Given the description of an element on the screen output the (x, y) to click on. 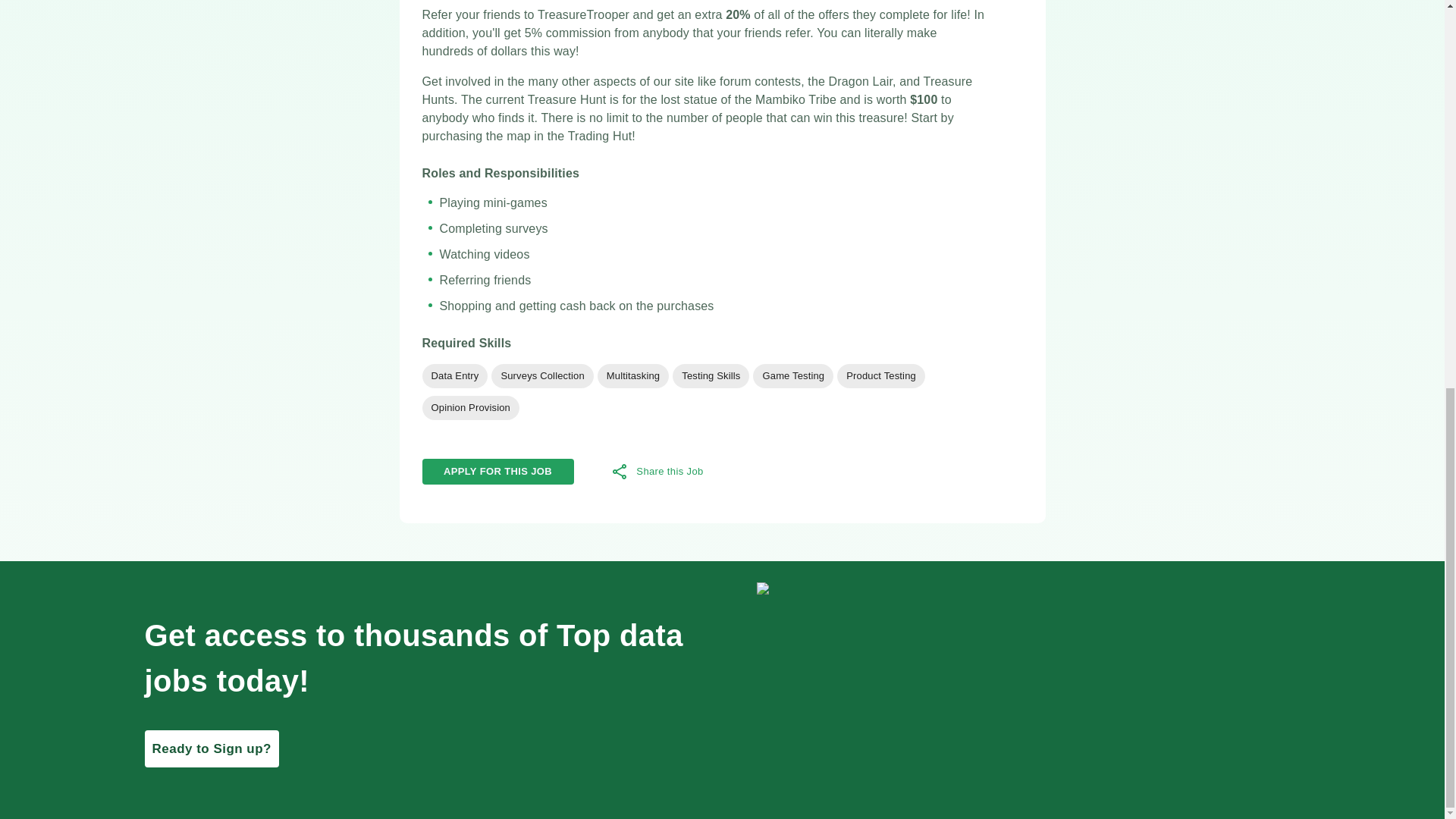
Share this Job (656, 471)
APPLY FOR THIS JOB (497, 462)
Ready to Sign up? (211, 749)
APPLY FOR THIS JOB (497, 471)
Ready to Sign up? (421, 749)
